Given the description of an element on the screen output the (x, y) to click on. 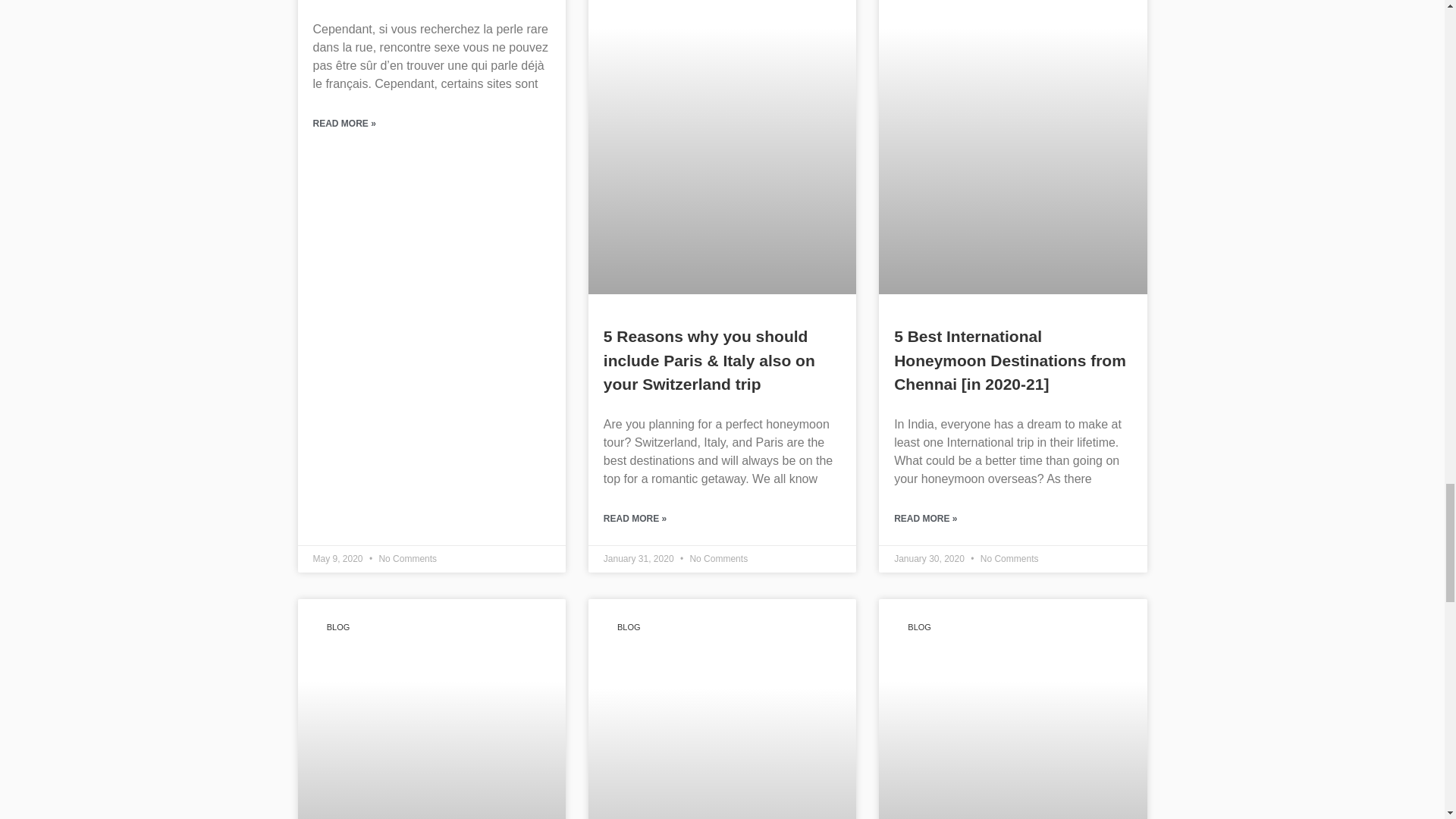
Home 43 (1013, 58)
Home 42 (722, 58)
Home 44 (431, 674)
Home 46 (1013, 674)
Home 45 (722, 688)
